Given the description of an element on the screen output the (x, y) to click on. 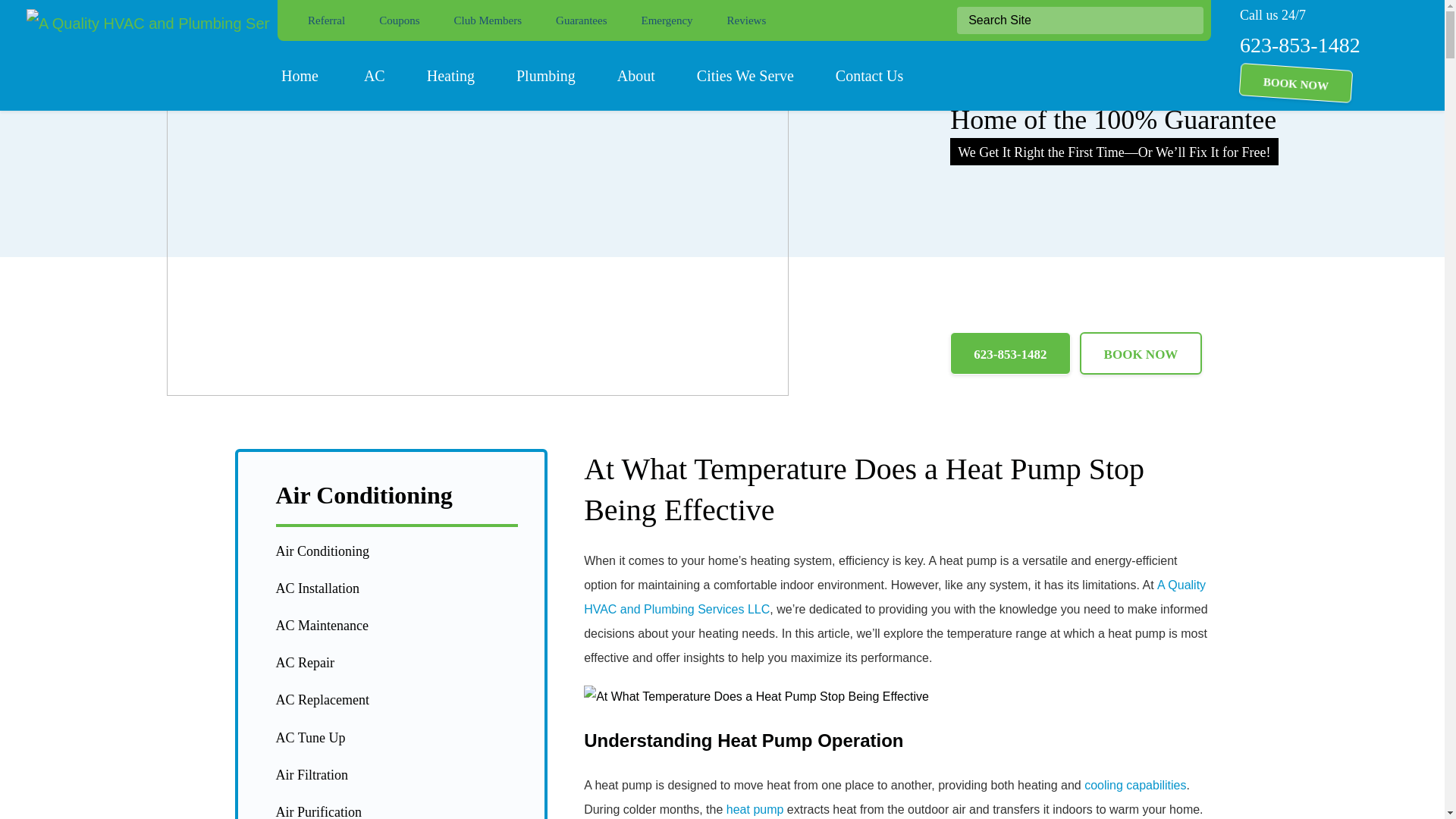
Search (1184, 20)
Search (1184, 20)
